Given the description of an element on the screen output the (x, y) to click on. 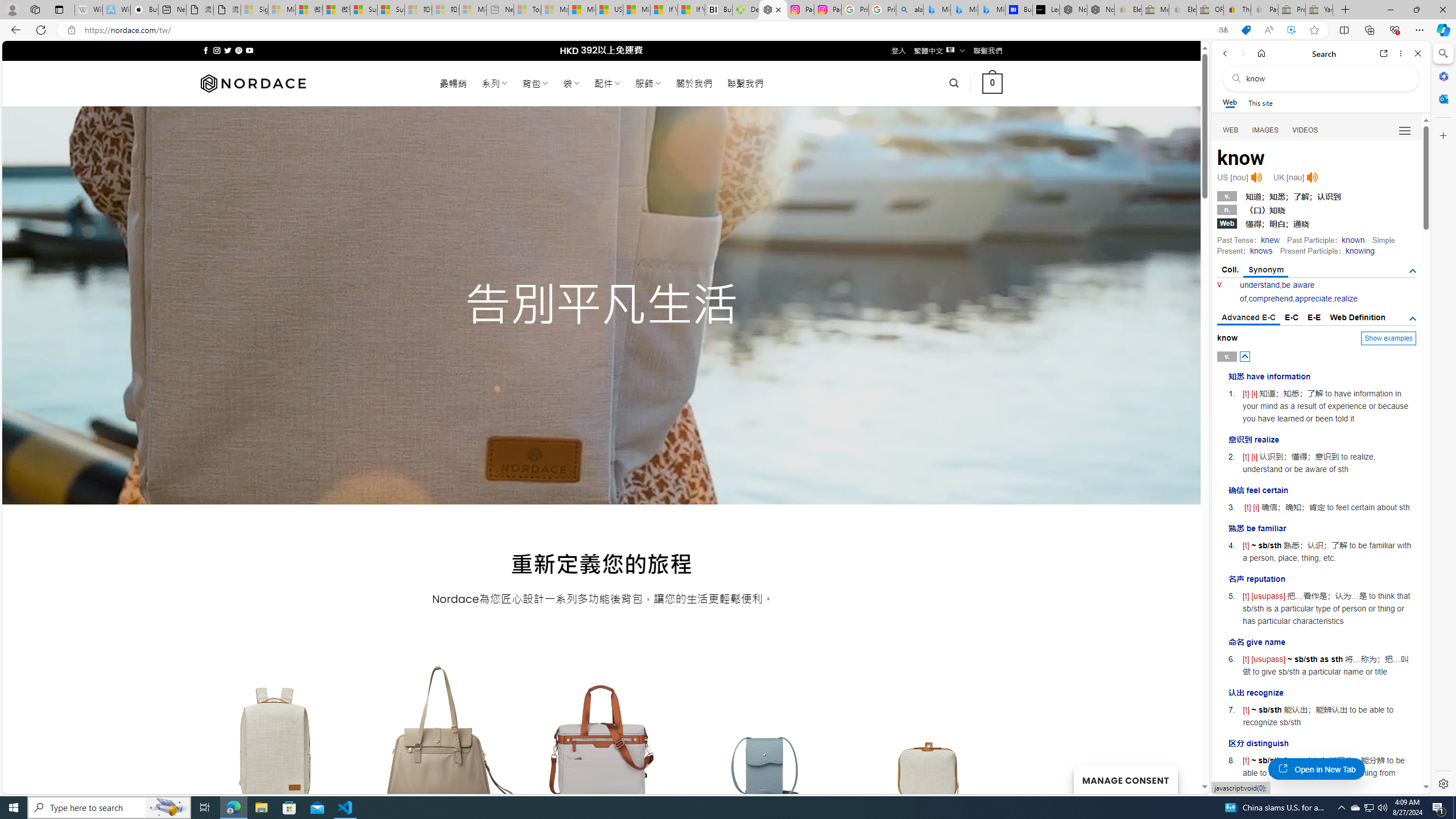
Show translate options (1222, 29)
knowing (1359, 250)
Top Stories - MSN - Sleeping (527, 9)
